Given the description of an element on the screen output the (x, y) to click on. 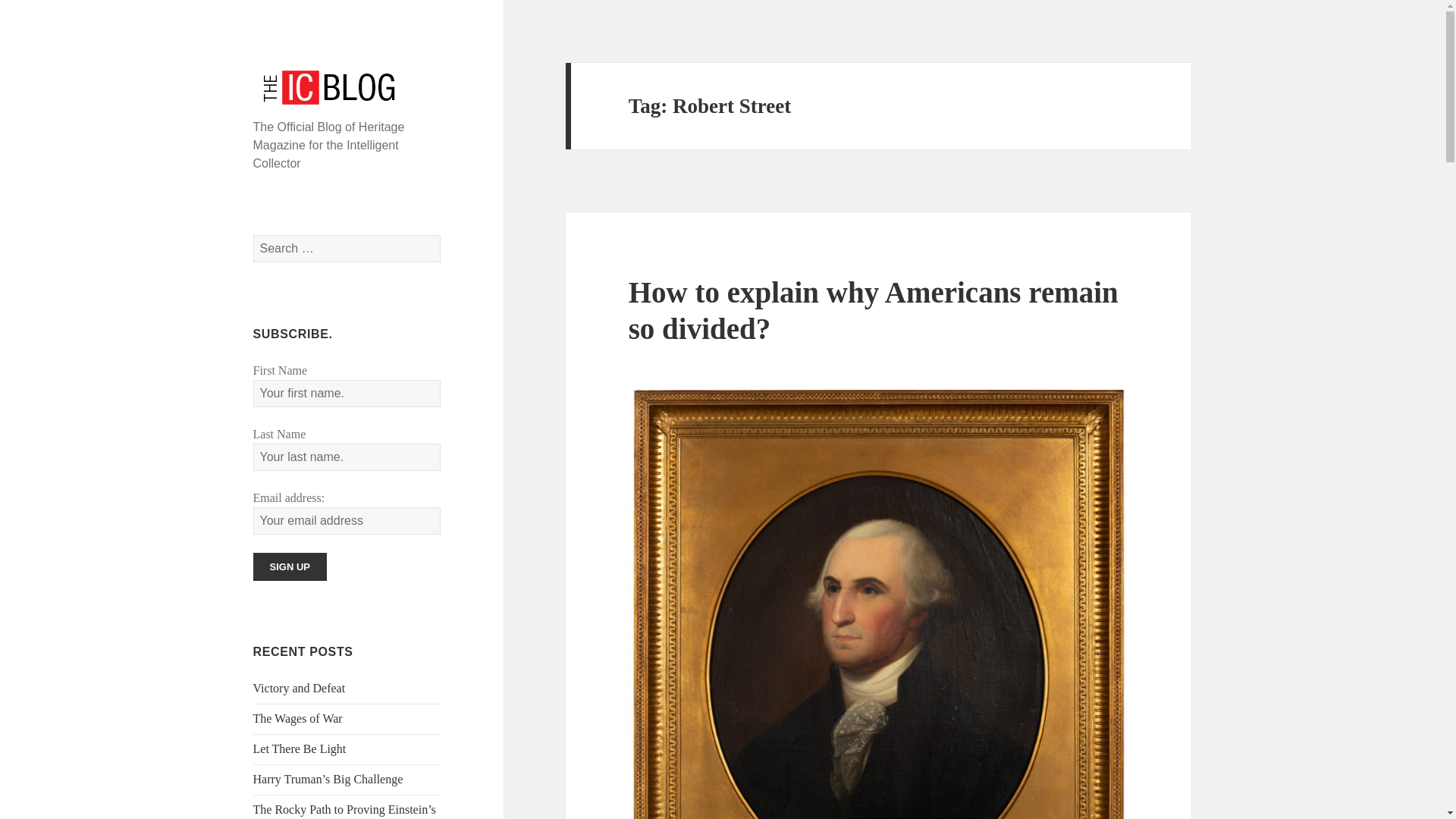
Victory and Defeat (299, 687)
Sign up (289, 566)
Let There Be Light (299, 748)
The Wages of War (297, 717)
Sign up (289, 566)
